Given the description of an element on the screen output the (x, y) to click on. 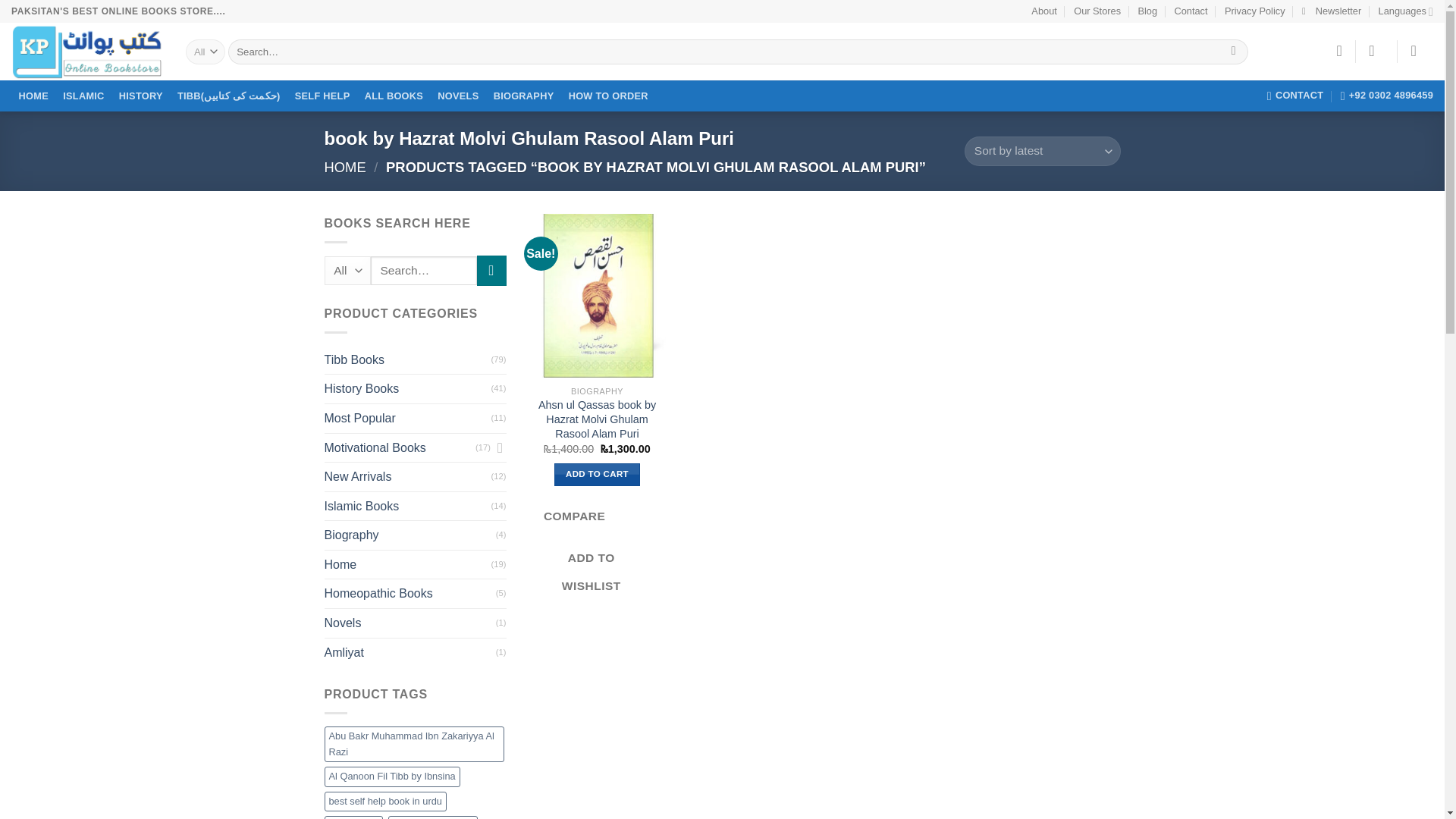
CONTACT (1294, 95)
Our Stores (1097, 11)
HOME (345, 166)
Languages (1405, 11)
ALL BOOKS (393, 96)
BIOGRAPHY (523, 96)
Privacy Policy (1254, 11)
HISTORY (141, 96)
HOME (33, 96)
NOVELS (458, 96)
Tibb Books (408, 359)
About (1043, 11)
ISLAMIC (84, 96)
Cart (1417, 50)
New Arrivals (408, 476)
